Given the description of an element on the screen output the (x, y) to click on. 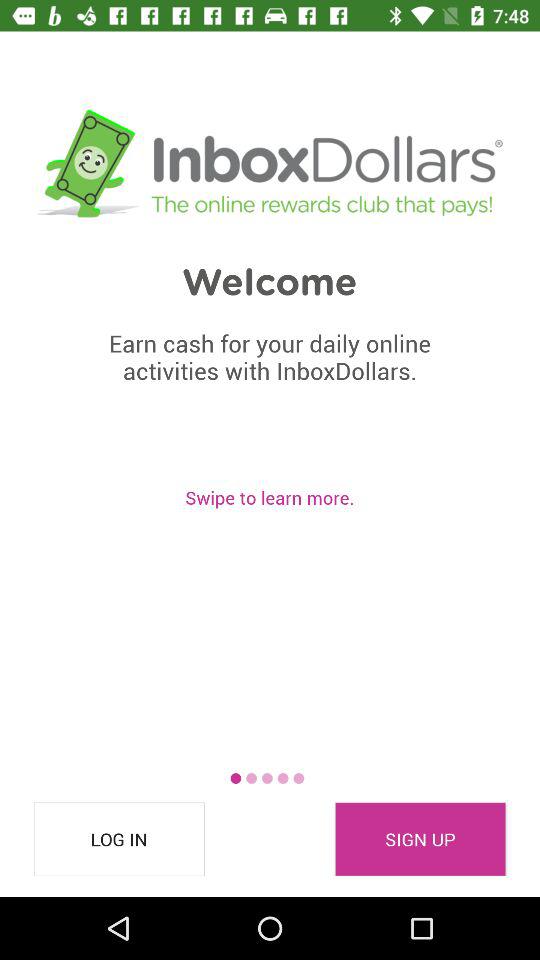
select the log in (119, 839)
